Given the description of an element on the screen output the (x, y) to click on. 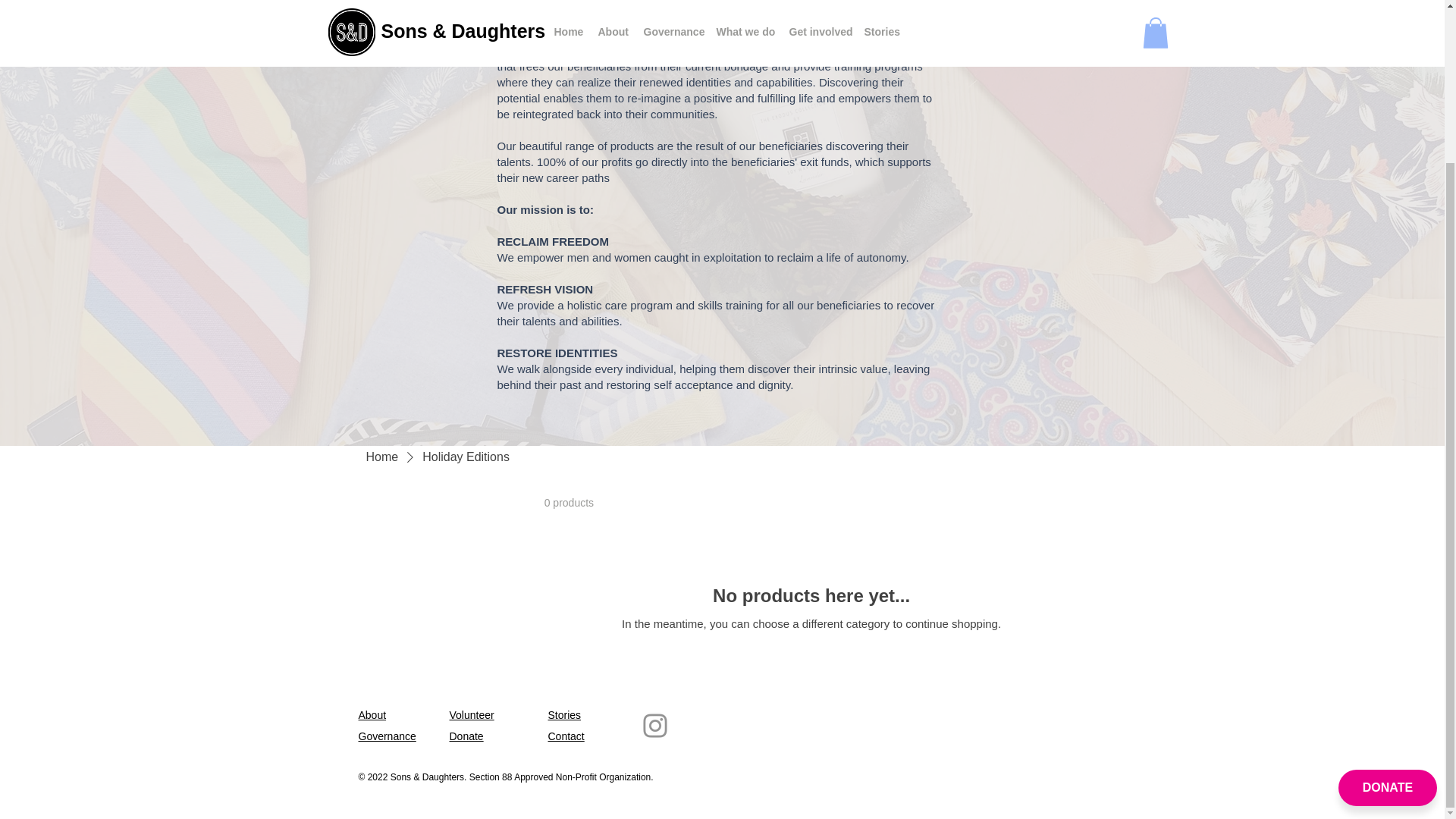
Volunteer (470, 715)
Contact (565, 736)
About (371, 715)
Governance (386, 736)
Donate (465, 736)
Stories (563, 715)
Home (381, 457)
